Given the description of an element on the screen output the (x, y) to click on. 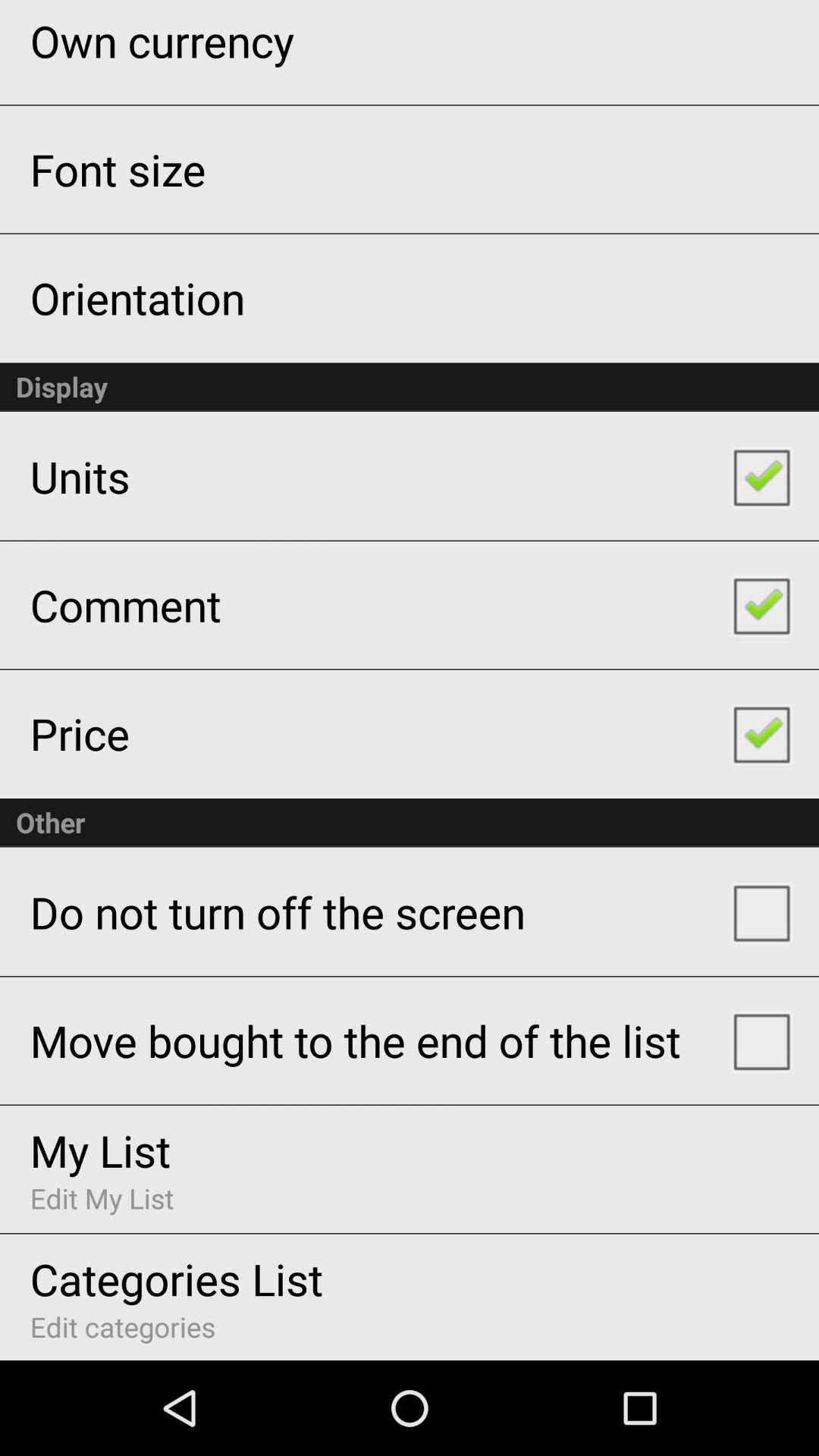
launch icon below the other app (277, 911)
